Given the description of an element on the screen output the (x, y) to click on. 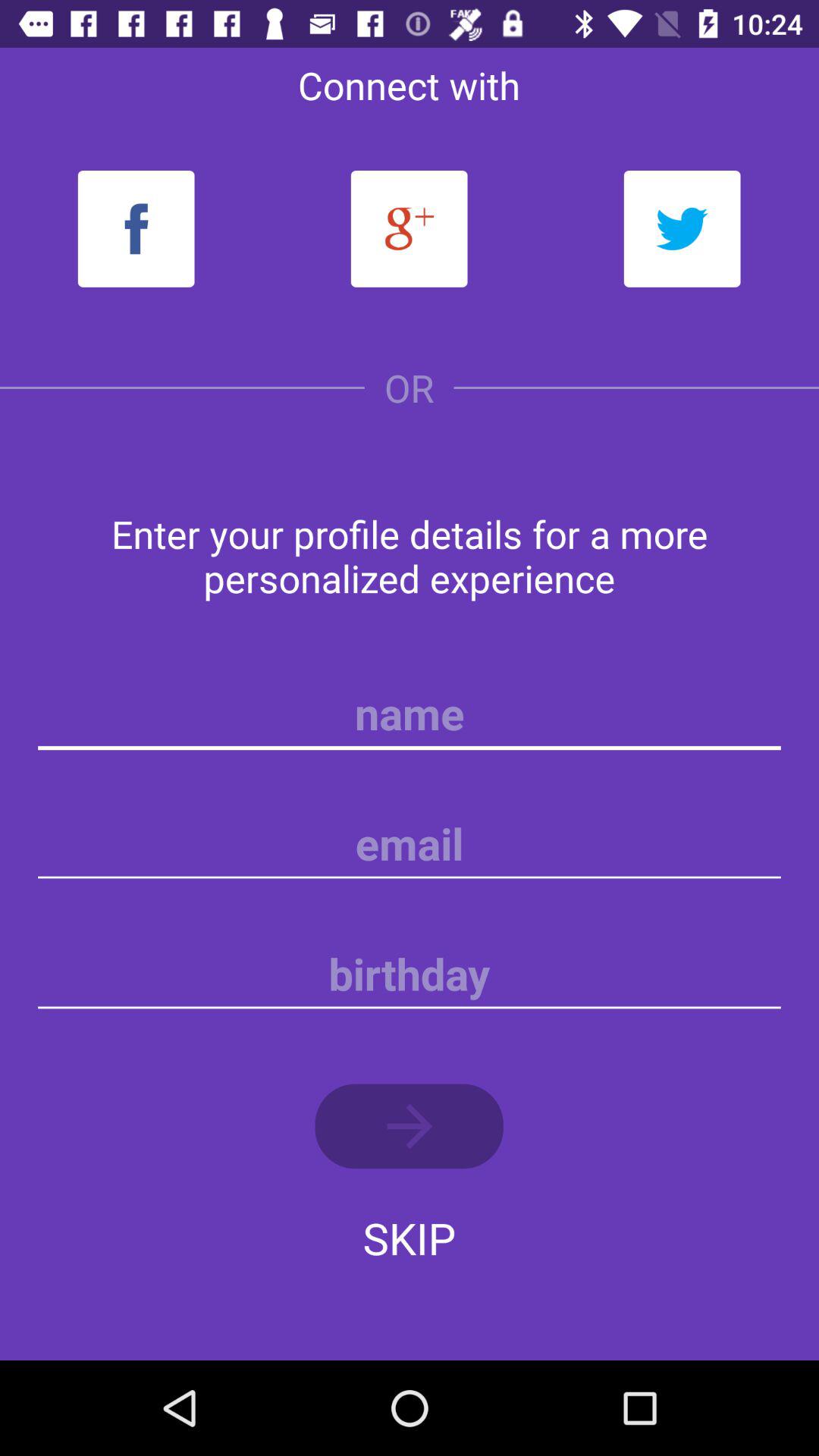
open icon below enter your profile (409, 713)
